Given the description of an element on the screen output the (x, y) to click on. 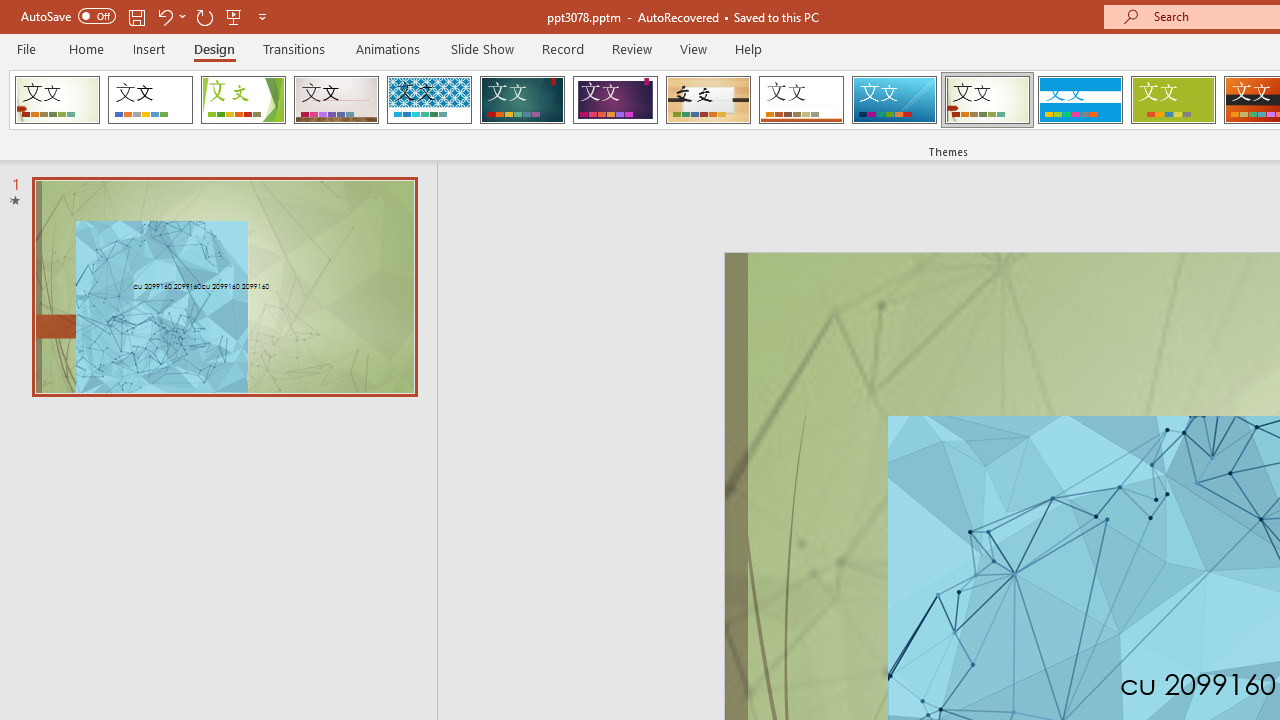
Ion Boardroom Loading Preview... (615, 100)
Retrospect Loading Preview... (801, 100)
Office Theme (150, 100)
Integral Loading Preview... (429, 100)
Organic Loading Preview... (708, 100)
Gallery (336, 100)
